Given the description of an element on the screen output the (x, y) to click on. 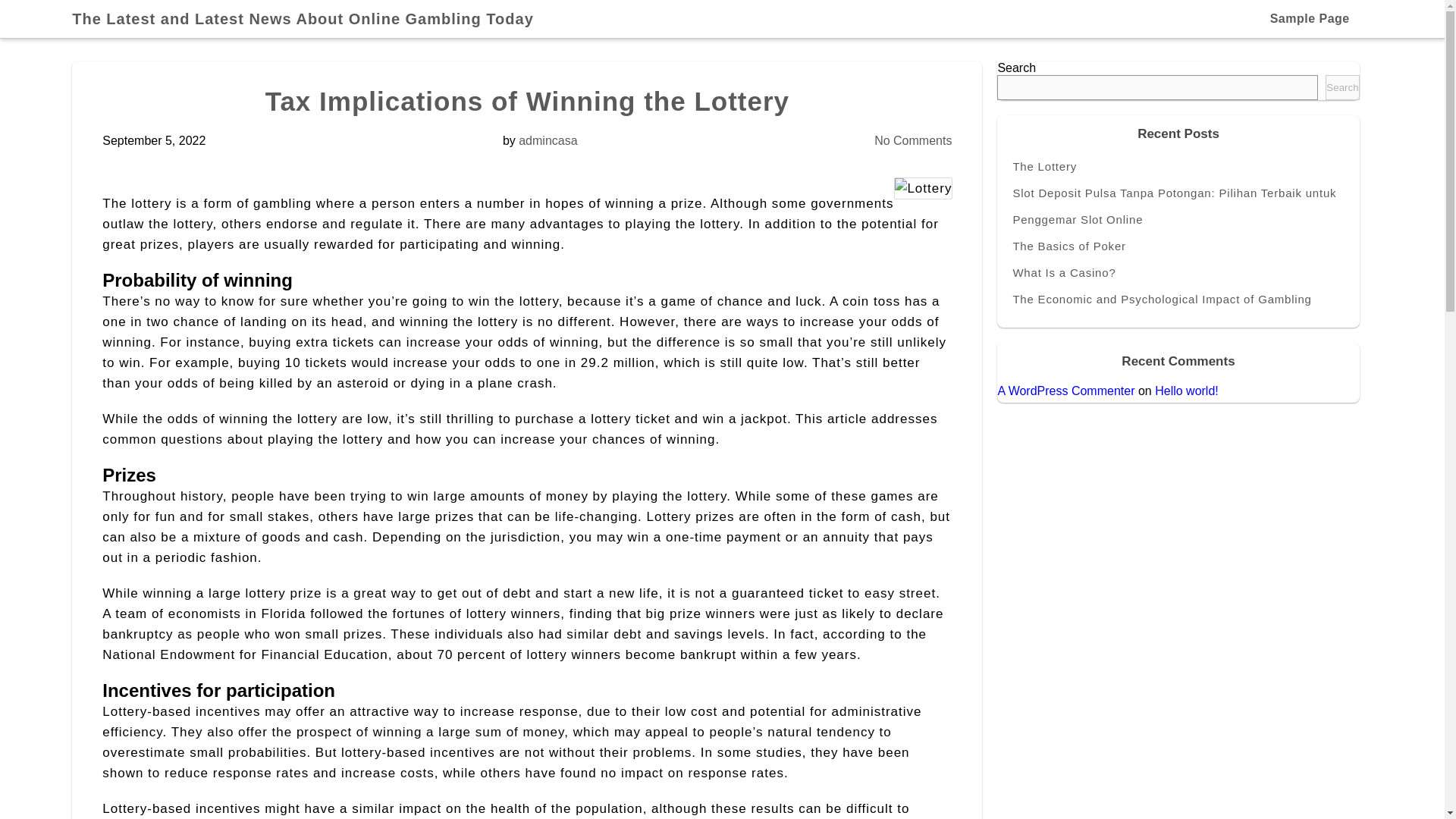
The Basics of Poker (1177, 245)
A WordPress Commenter (1065, 390)
Search (1341, 87)
What Is a Casino? (1177, 272)
Hello world! (1186, 390)
The Latest and Latest News About Online Gambling Today (309, 18)
No Comments (913, 140)
Posts by admincasa (547, 140)
admincasa (547, 140)
Sample Page (1309, 18)
The Economic and Psychological Impact of Gambling (1177, 298)
The Lottery (1177, 166)
